Given the description of an element on the screen output the (x, y) to click on. 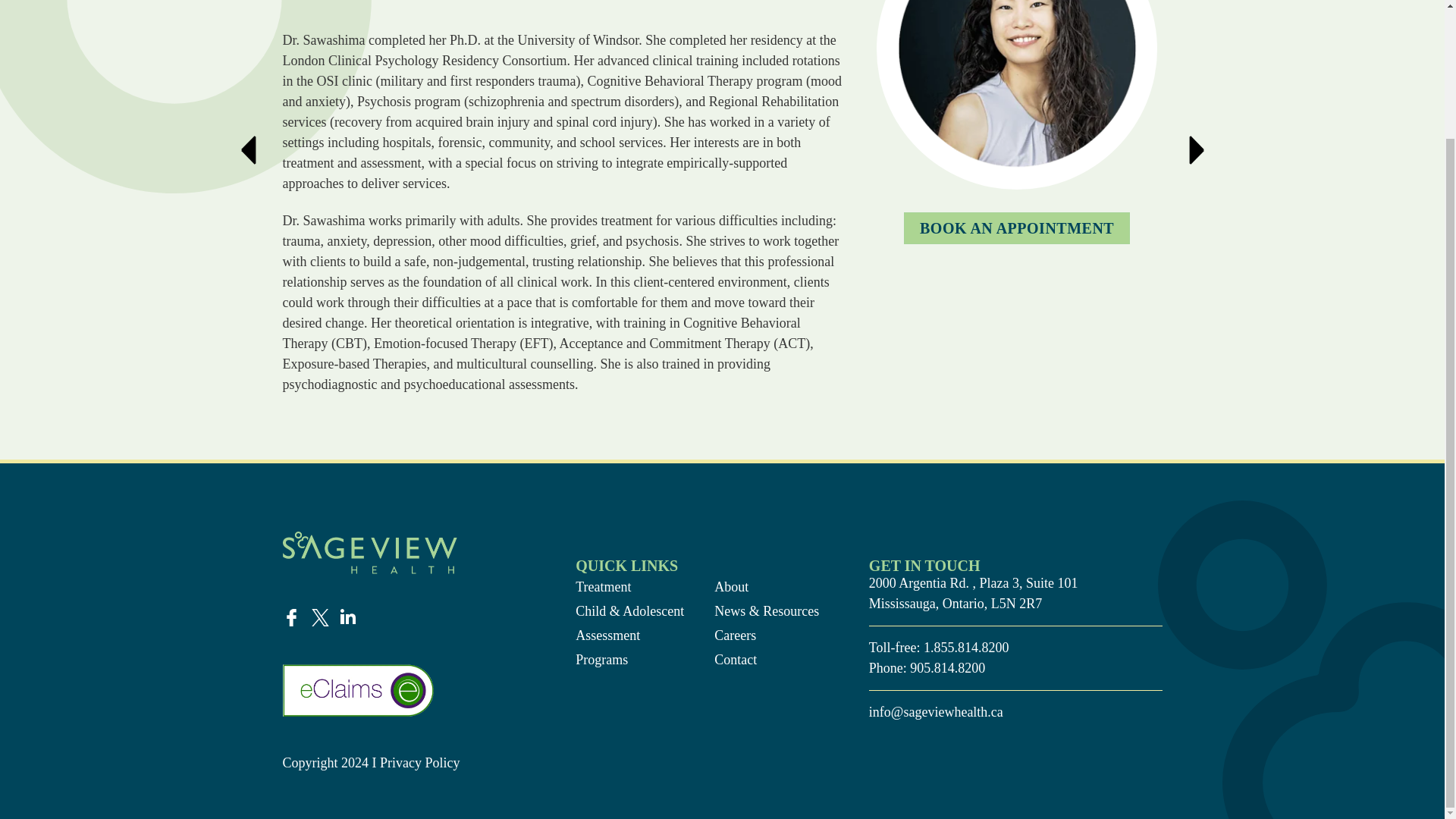
Assessment (629, 635)
Careers (768, 635)
About (768, 587)
Submit (439, 403)
Privacy Policy  (421, 762)
Treatment (629, 587)
905.814.8200 (947, 667)
Contact (768, 660)
1.855.814.8200 (966, 647)
Programs (629, 660)
